Given the description of an element on the screen output the (x, y) to click on. 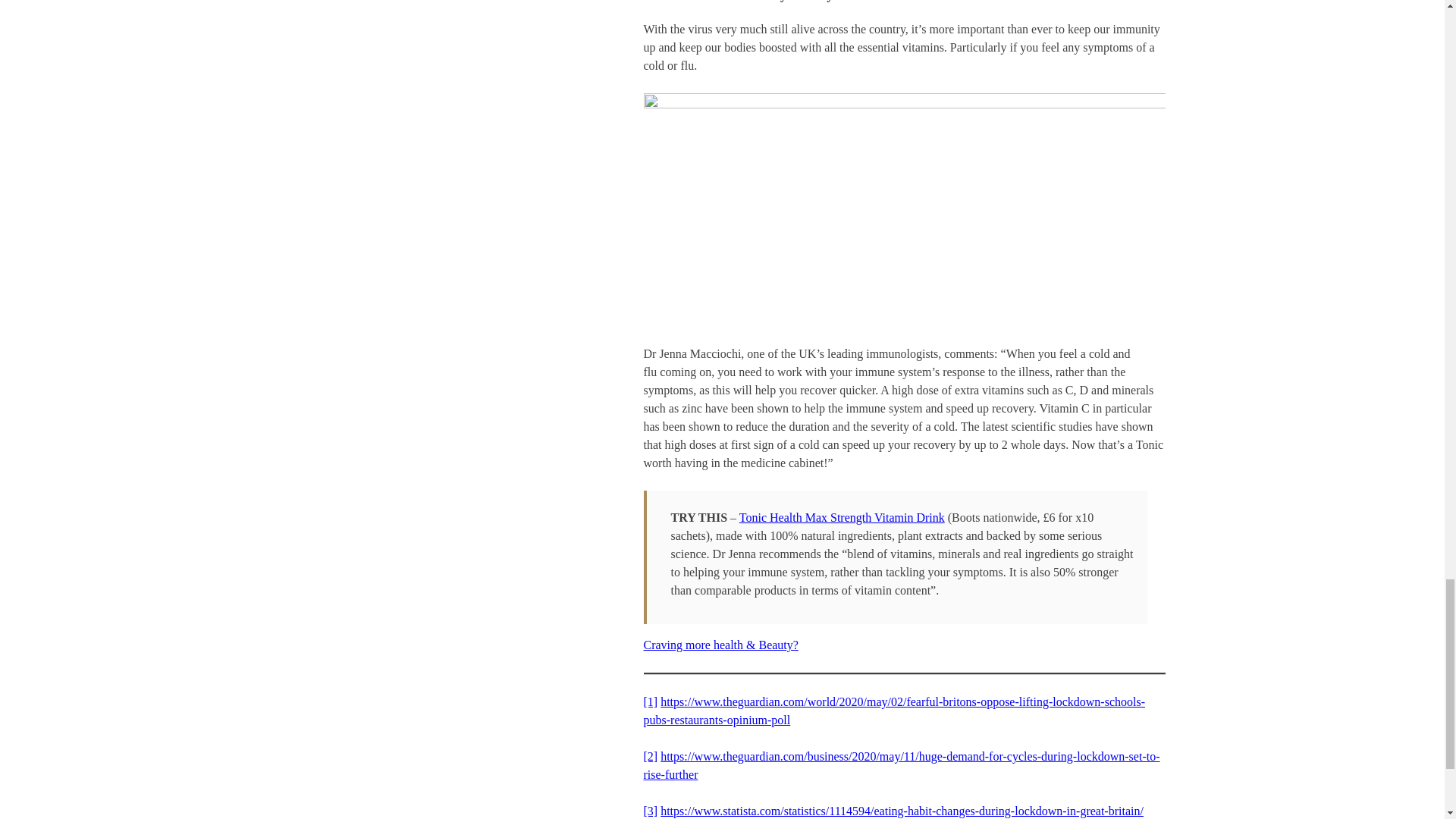
Tonic Health Max Strength Vitamin Drink (841, 517)
